Given the description of an element on the screen output the (x, y) to click on. 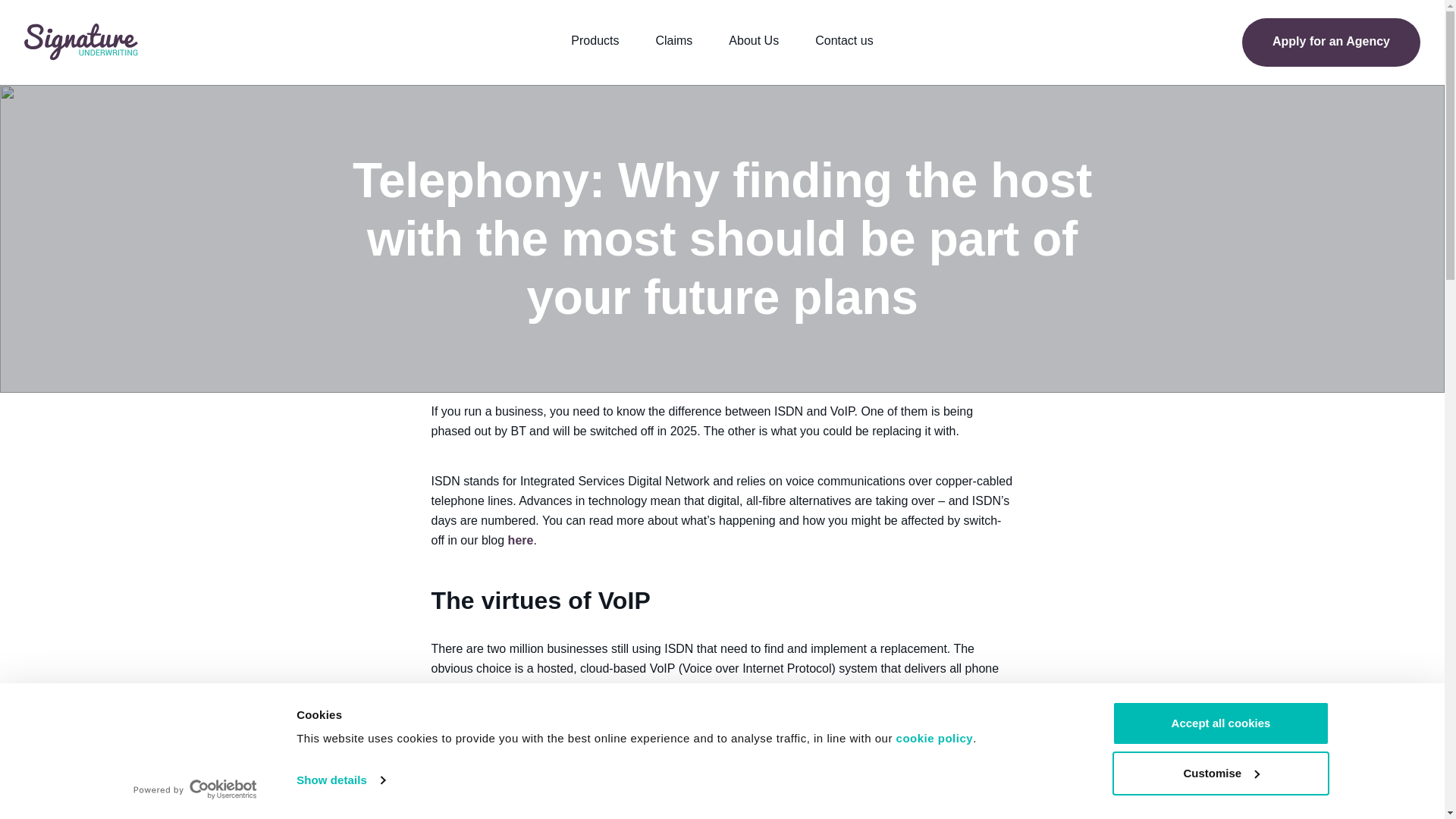
cookie policy (933, 738)
Show details (340, 780)
Customise (1219, 772)
